Given the description of an element on the screen output the (x, y) to click on. 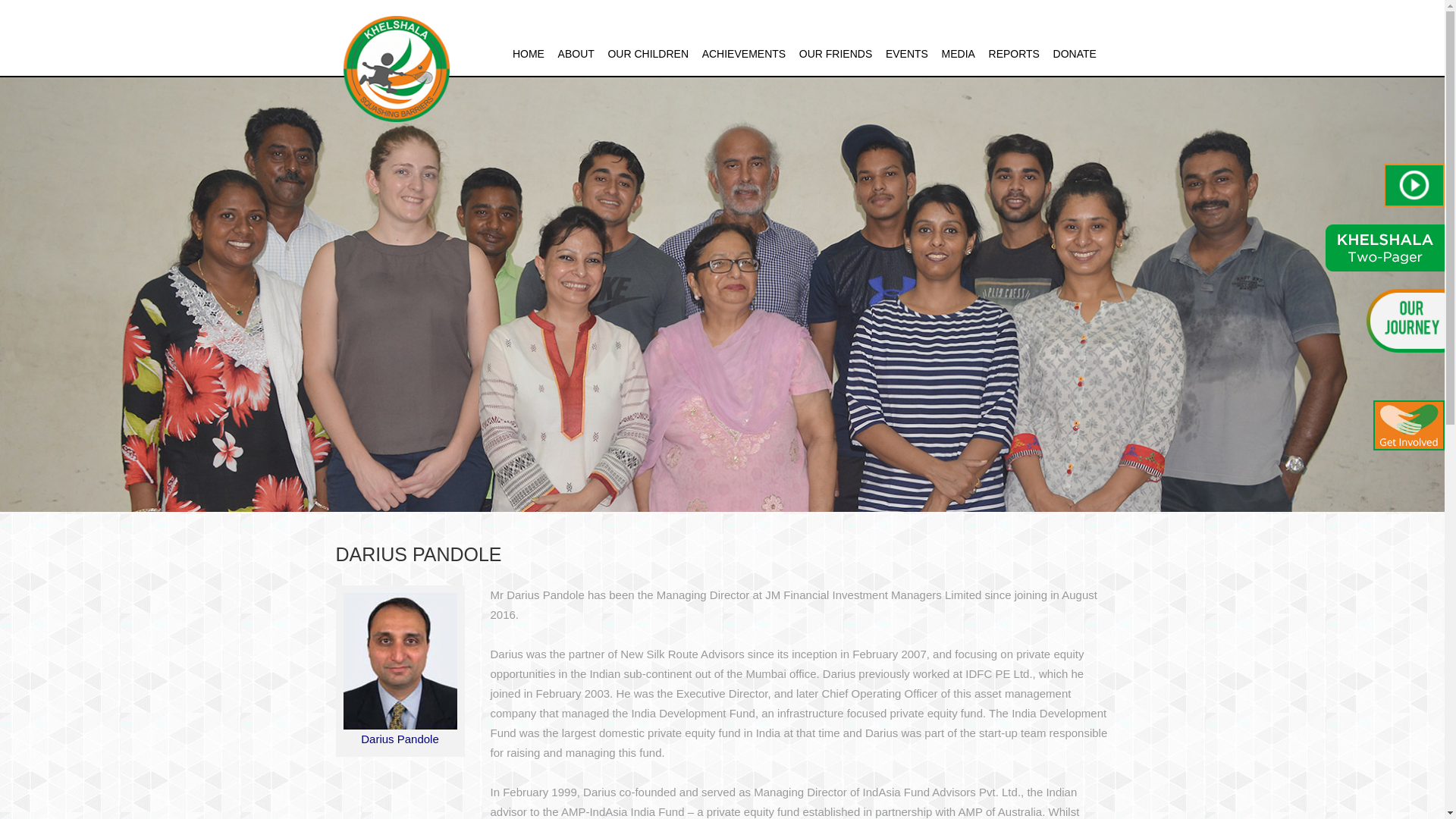
DONATE (1074, 53)
REPORTS (1013, 53)
MEDIA (958, 53)
HOME (528, 53)
EVENTS (906, 53)
ACHIEVEMENTS (743, 53)
OUR FRIENDS (835, 53)
ABOUT (575, 53)
OUR CHILDREN (647, 53)
